Given the description of an element on the screen output the (x, y) to click on. 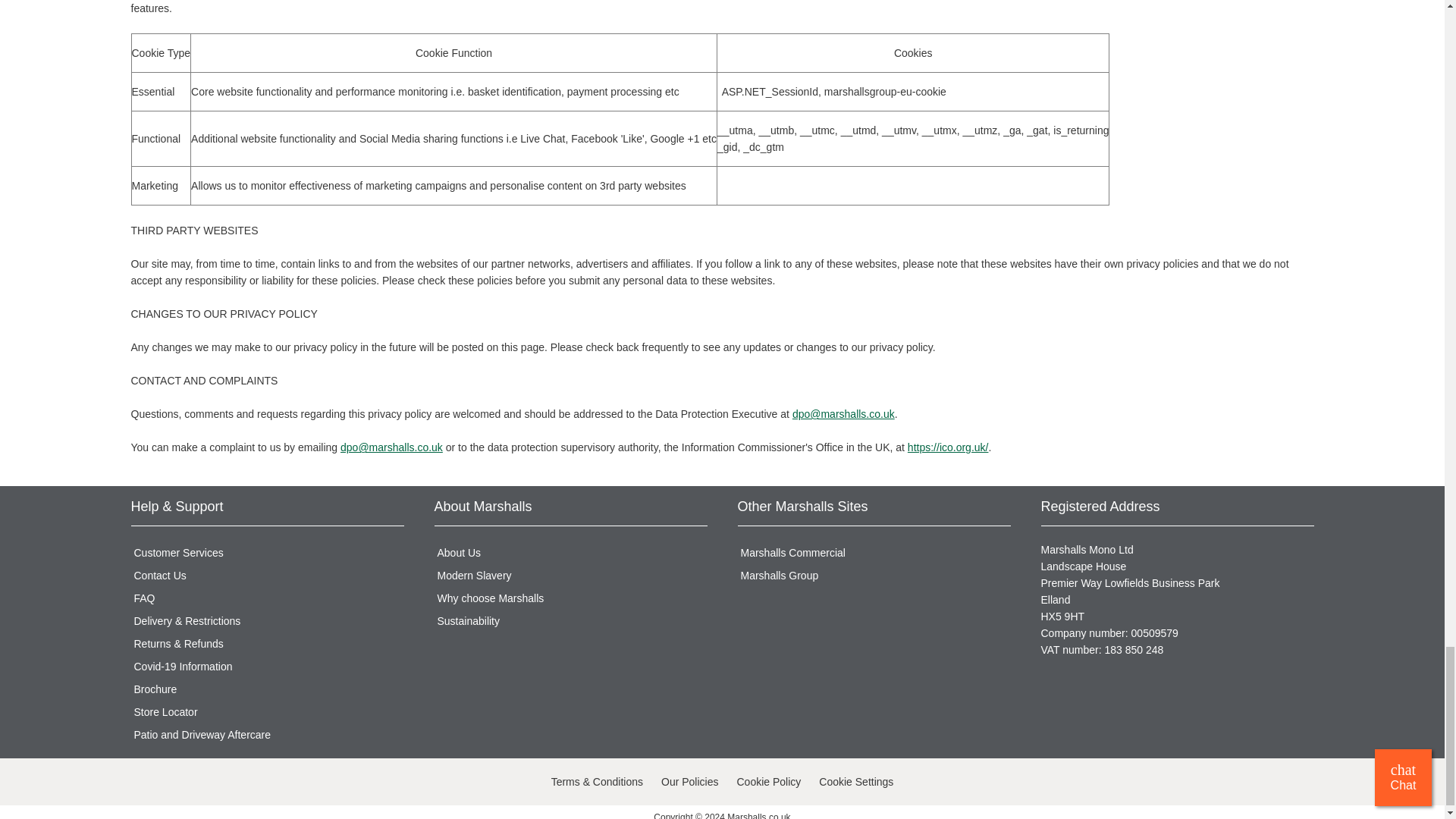
Visa Debit (176, 783)
Maestro (304, 783)
Mastercard (272, 783)
Visa Electron (208, 783)
PayPal (240, 783)
Visa (144, 783)
